Given the description of an element on the screen output the (x, y) to click on. 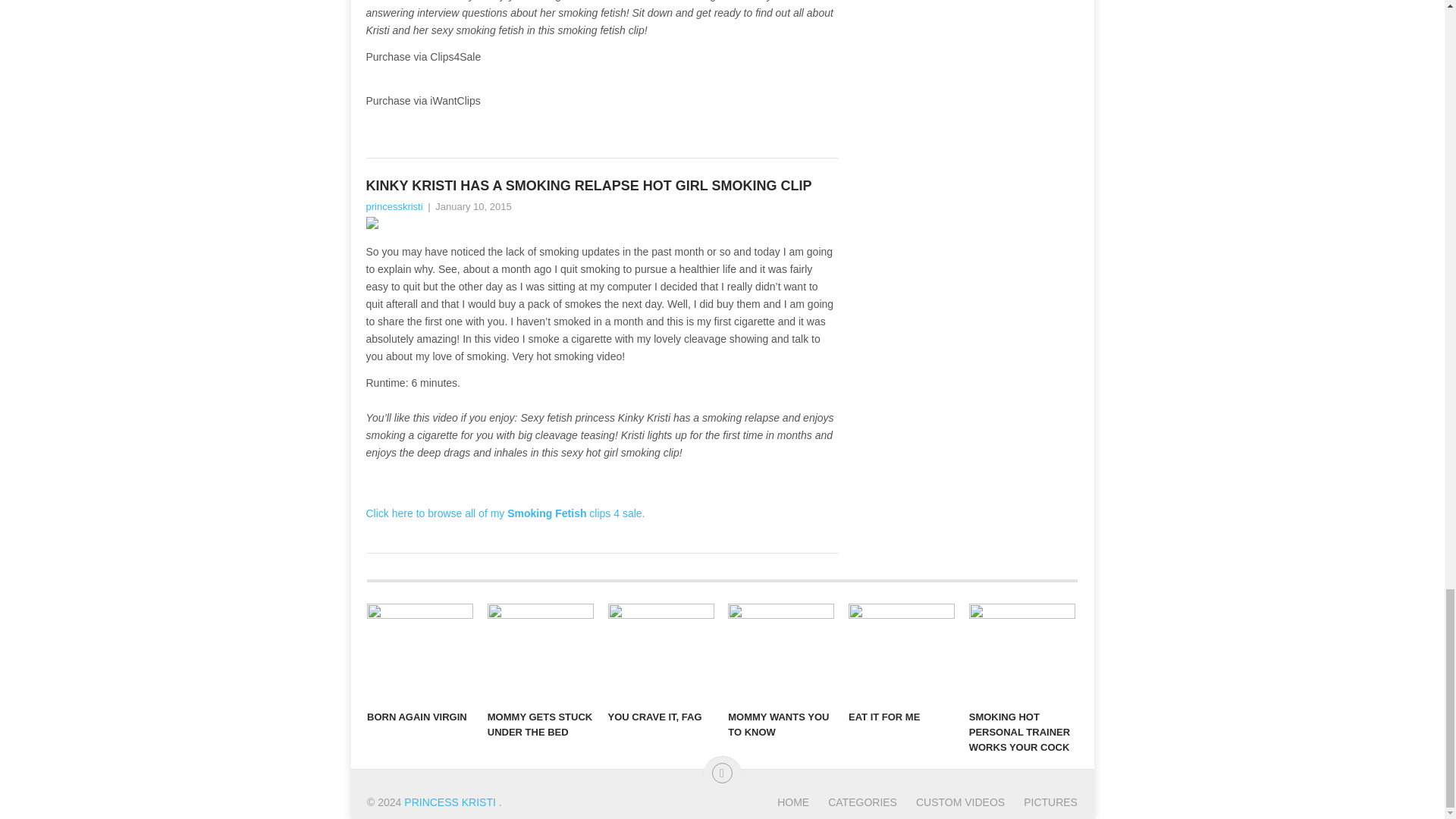
Posts by princesskristi (393, 206)
Kinky Kristi Has a Smoking Relapse Hot Girl Smoking Clip (601, 185)
Mommy Gets Stuck Under the Bed (540, 652)
Born Again Virgin (419, 652)
